Given the description of an element on the screen output the (x, y) to click on. 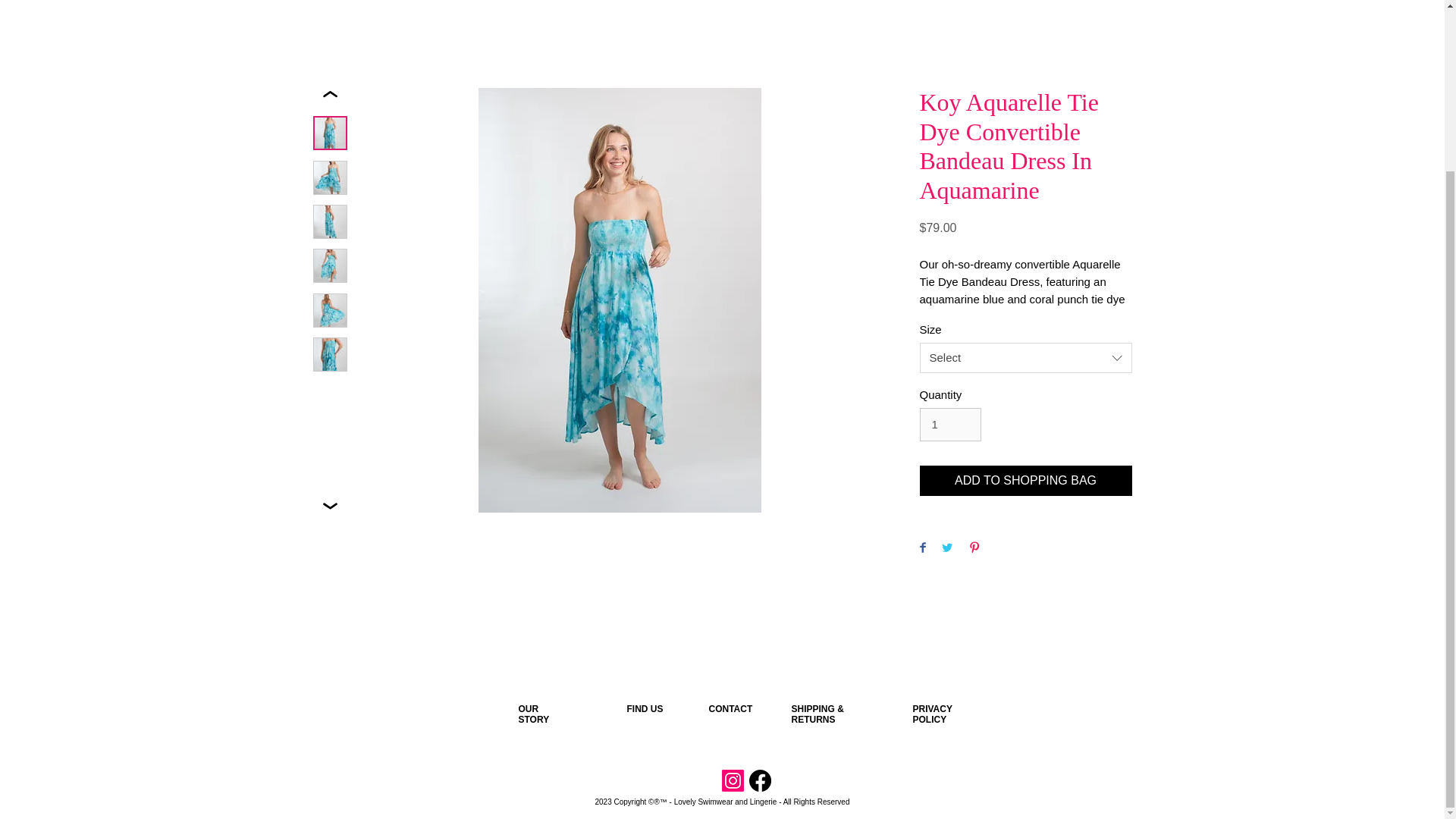
1 (949, 424)
ADD TO SHOPPING BAG (1024, 481)
Select (1024, 358)
OUR STORY (534, 713)
